Given the description of an element on the screen output the (x, y) to click on. 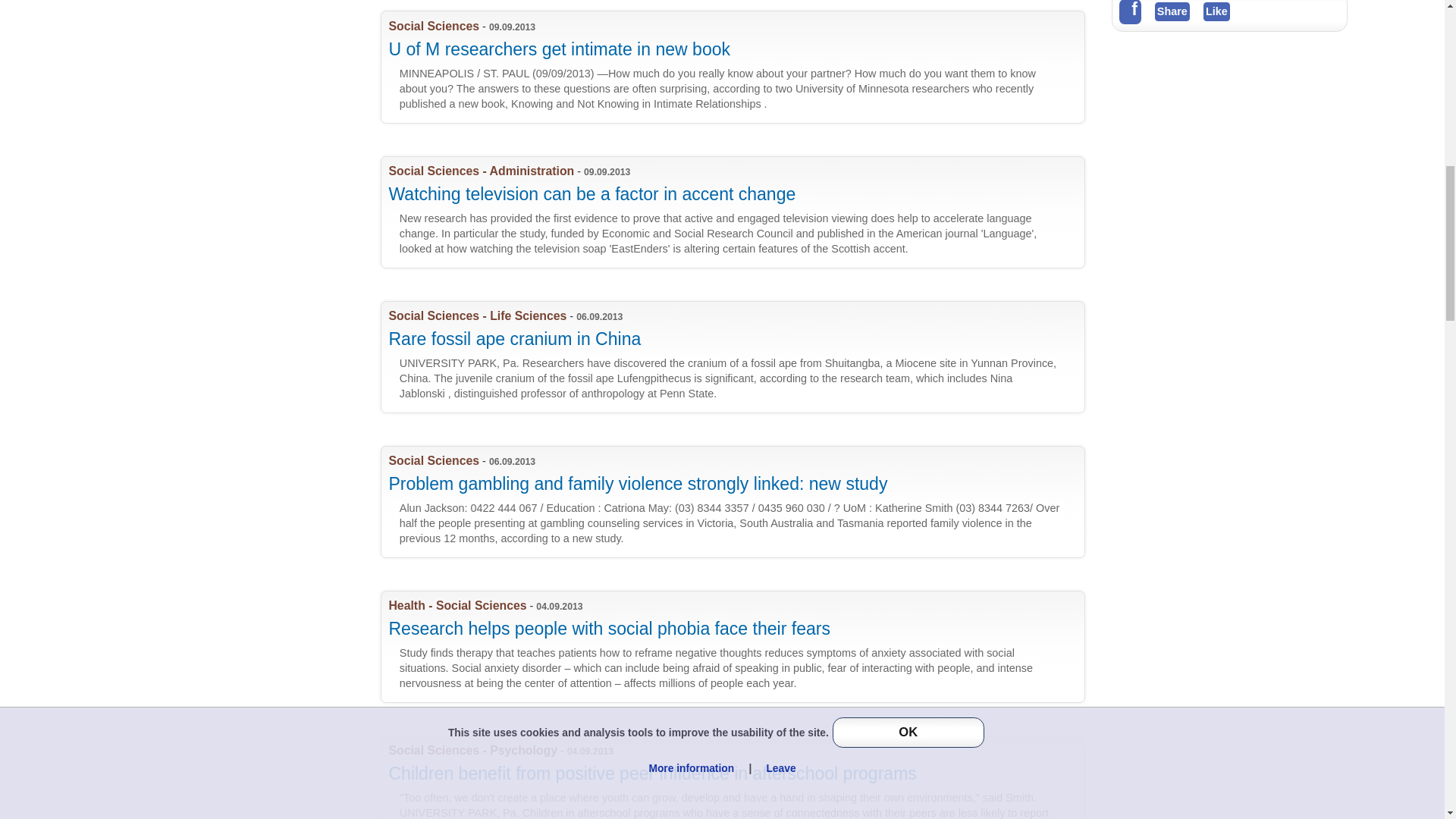
UMN (738, 66)
PENNSTATE (738, 777)
PENNSTATE (738, 357)
STANFORD (738, 646)
GLASGOW (738, 212)
MELBOURNE (738, 501)
